Given the description of an element on the screen output the (x, y) to click on. 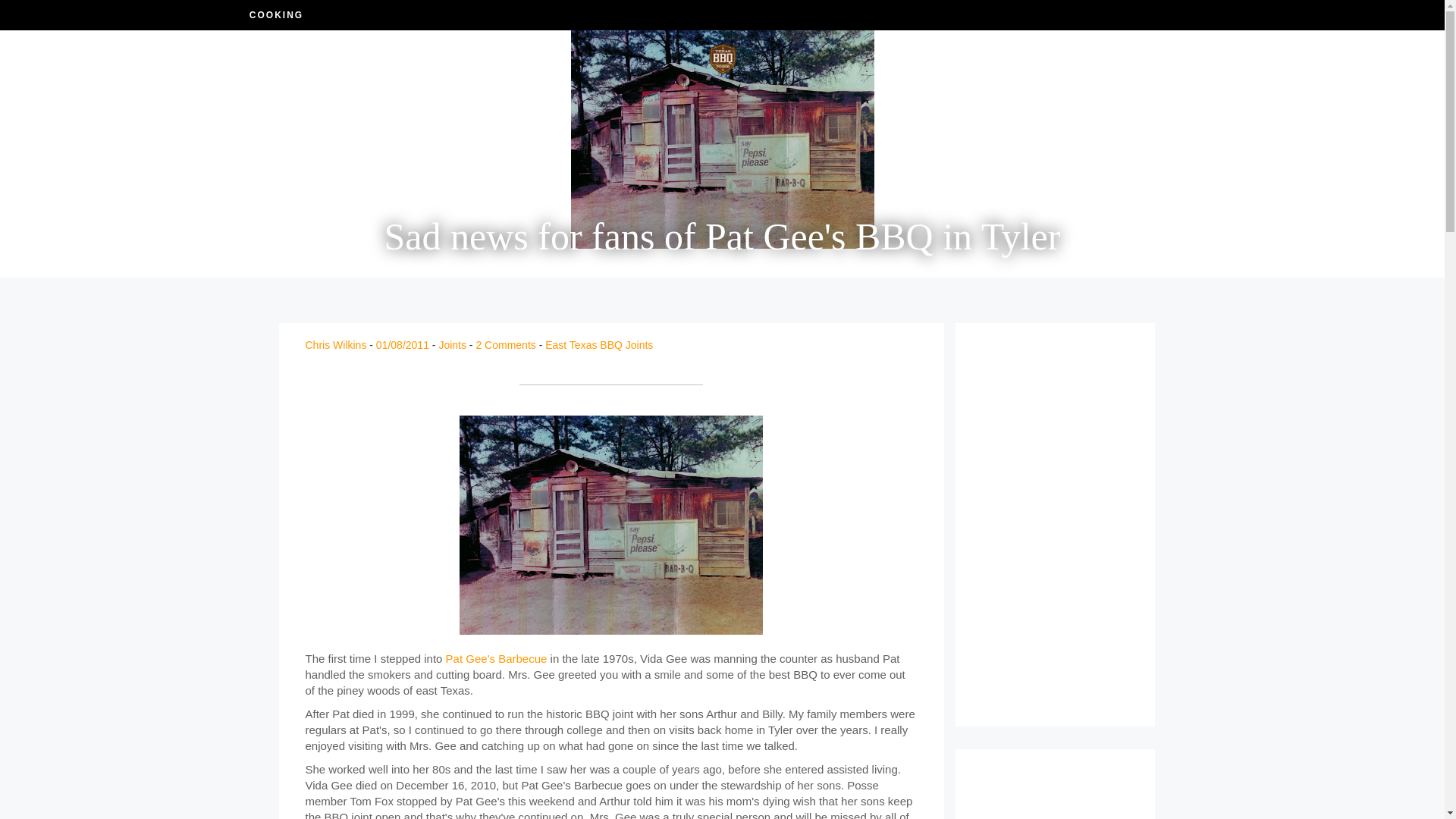
Joints (451, 345)
2 Comments (505, 345)
Chris Wilkins (335, 345)
Pat Gee's Barbecue (496, 658)
COOKING (401, 73)
East Texas BBQ Joints (598, 345)
